Given the description of an element on the screen output the (x, y) to click on. 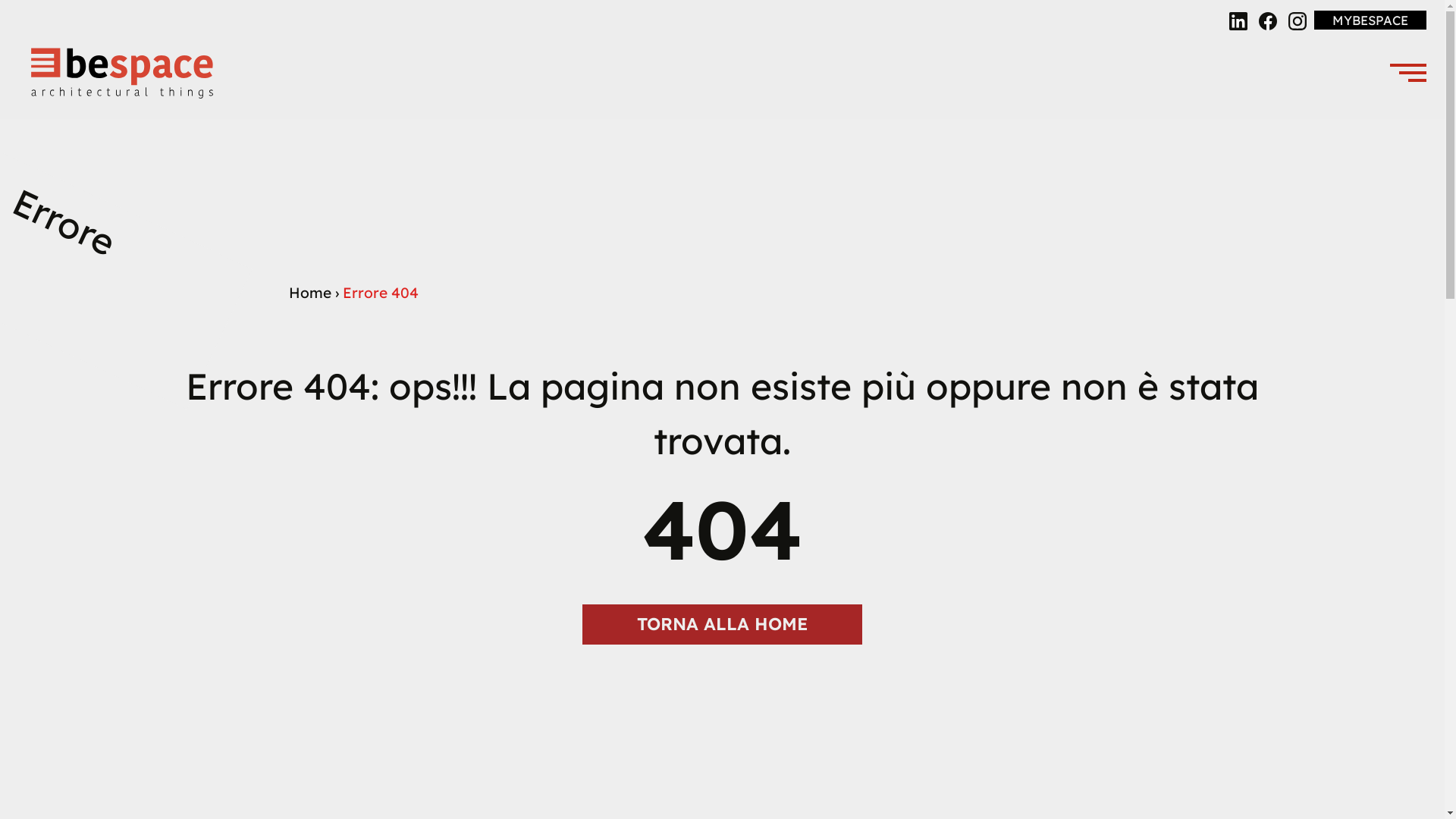
MYBESPACE Element type: text (1370, 19)
TORNA ALLA HOME Element type: text (722, 624)
Errore 404 Element type: text (380, 292)
